Given the description of an element on the screen output the (x, y) to click on. 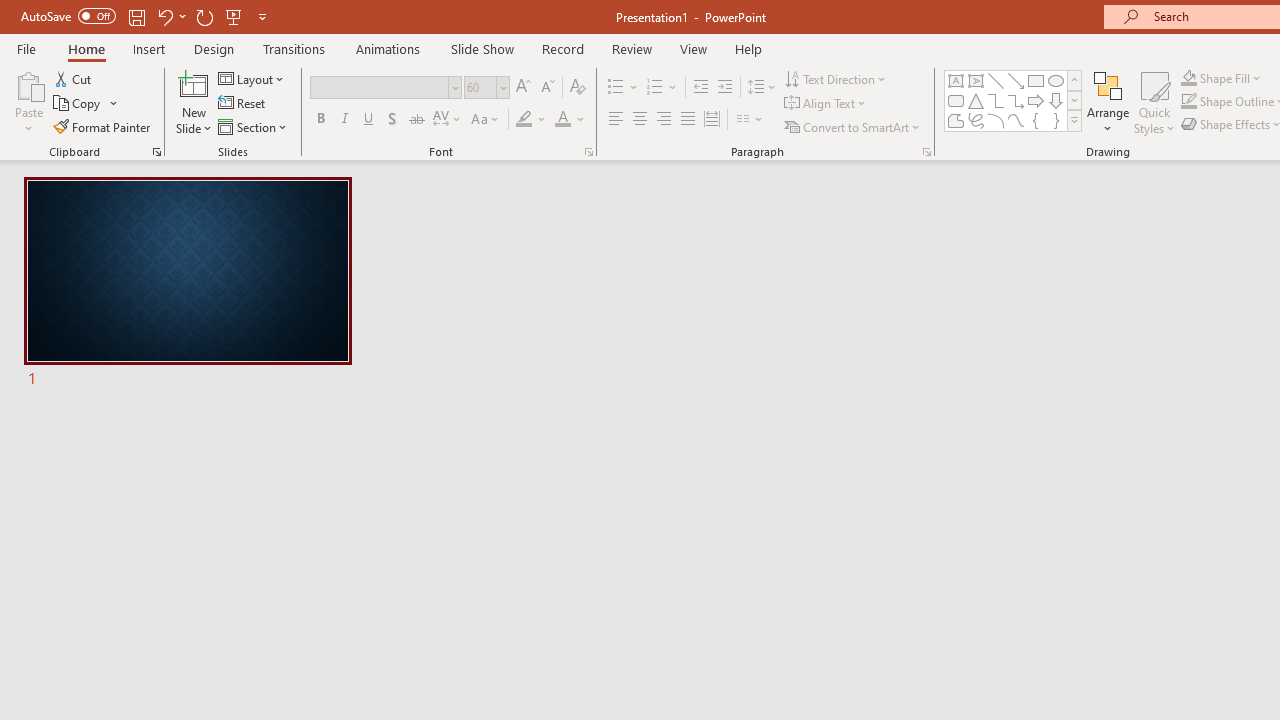
Shapes (1074, 120)
Arc (995, 120)
Arrange (1108, 102)
Arrow: Down (1055, 100)
Font Color (569, 119)
Decrease Font Size (547, 87)
